Given the description of an element on the screen output the (x, y) to click on. 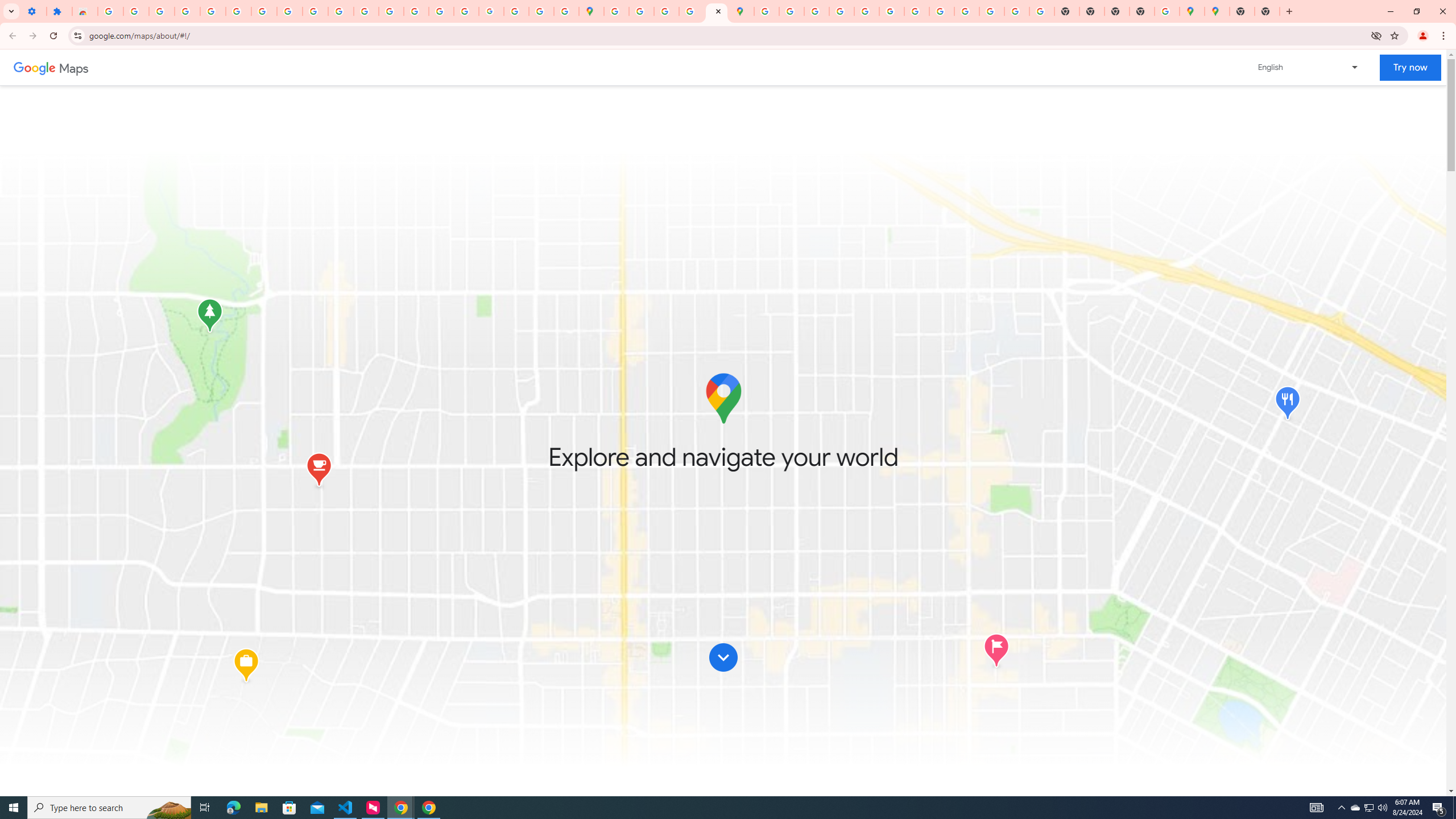
Change language or region (1308, 66)
Privacy Help Center - Policies Help (816, 11)
New Tab (1241, 11)
